Given the description of an element on the screen output the (x, y) to click on. 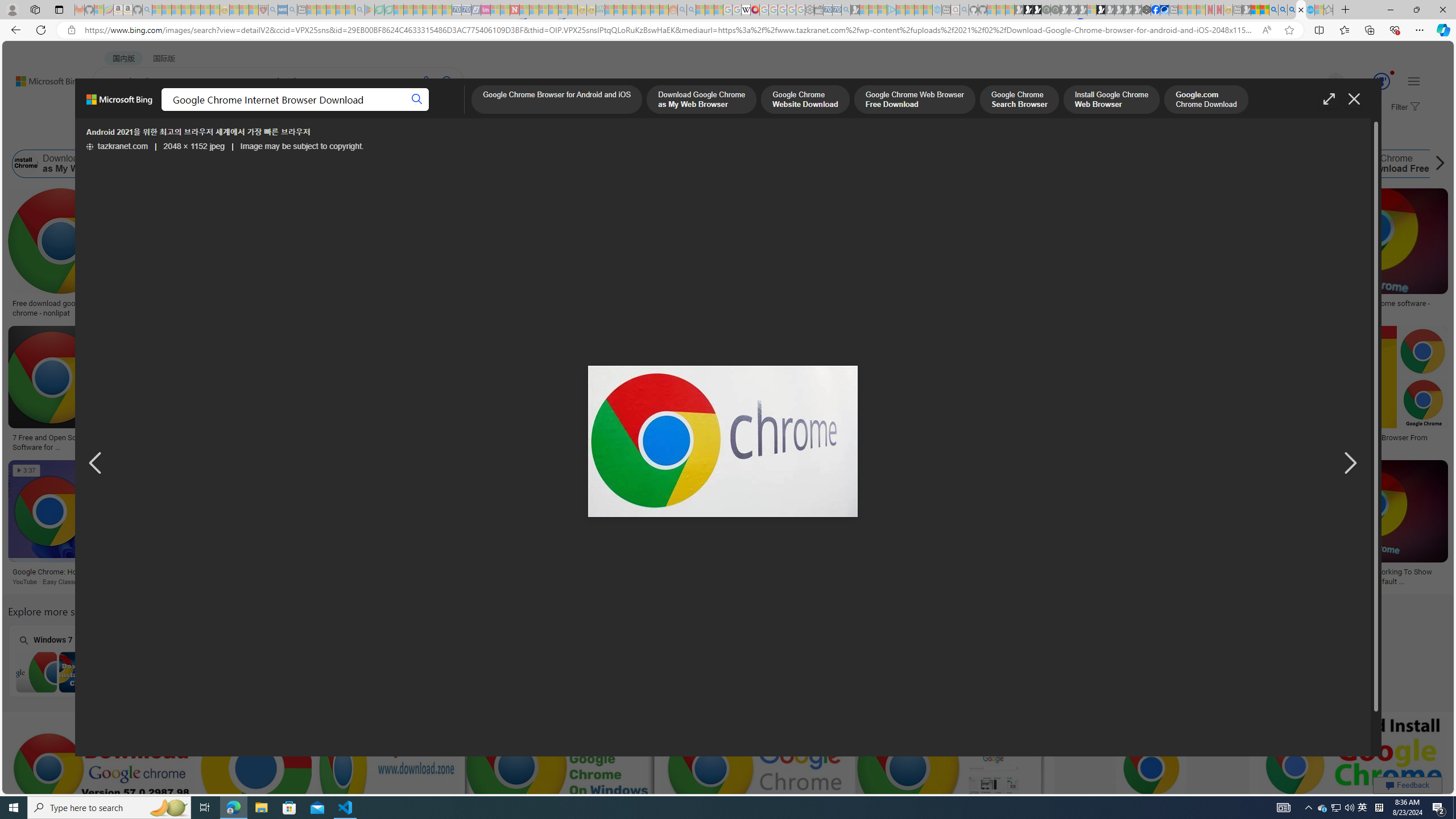
Wallet - Sleeping (818, 9)
ACADEMIC (360, 111)
Google Chrome for Download (1219, 163)
All Categories - humanrewaSave (605, 390)
Nordace - Cooler Bags (1146, 9)
Sign in to your account - Sleeping (1090, 9)
Download Files Google Chrome Browser Download - vrogue.co (716, 307)
Chrome Browser (1146, 571)
New Report Confirms 2023 Was Record Hot | Watch - Sleeping (195, 9)
